Given the description of an element on the screen output the (x, y) to click on. 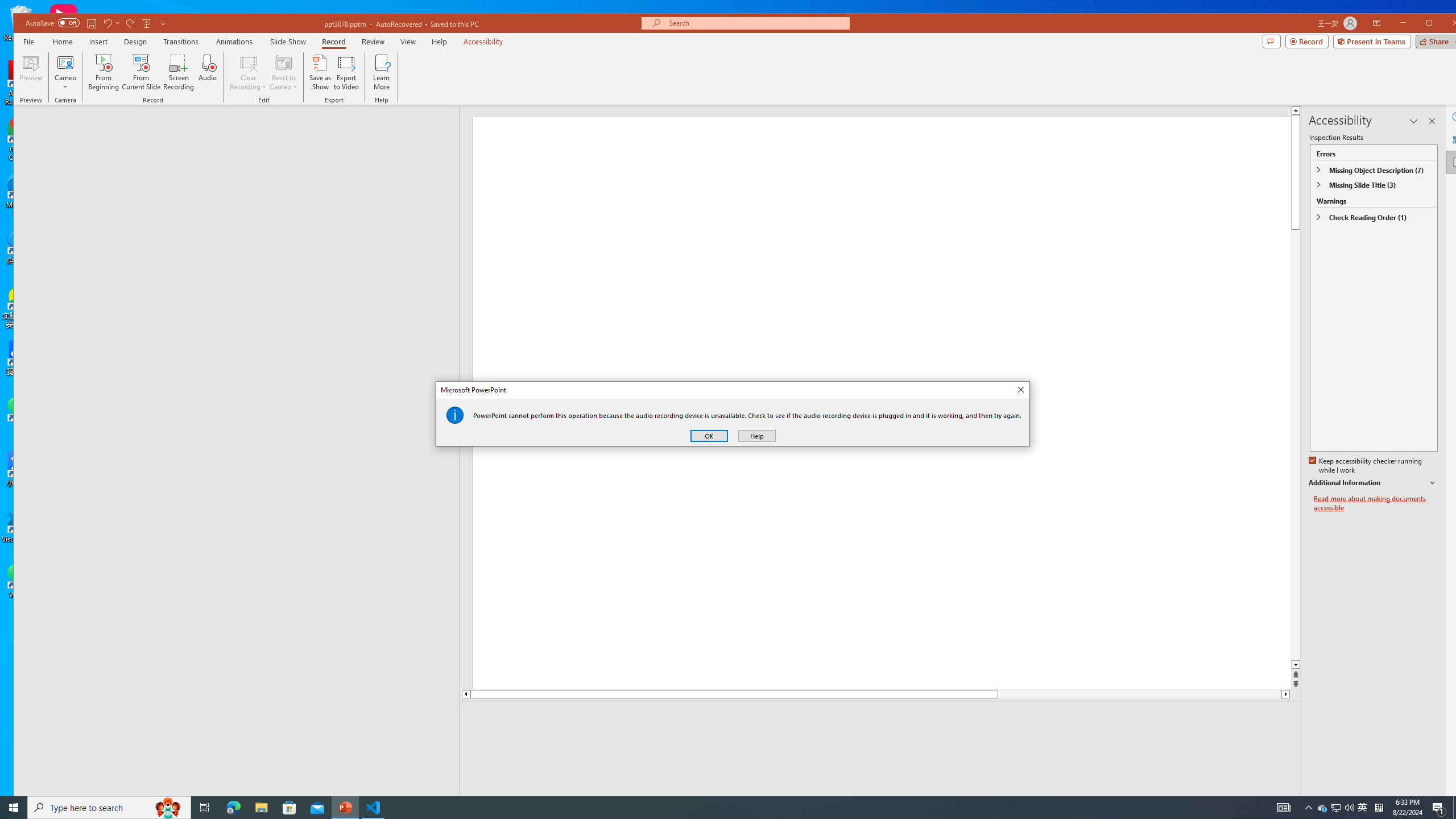
Visual Studio Code - 1 running window (373, 807)
Additional Information (1373, 482)
Export to Video (347, 72)
Microsoft Store (289, 807)
Learn More (381, 72)
From Beginning... (103, 72)
Microsoft Edge (233, 807)
Start (13, 807)
